Given the description of an element on the screen output the (x, y) to click on. 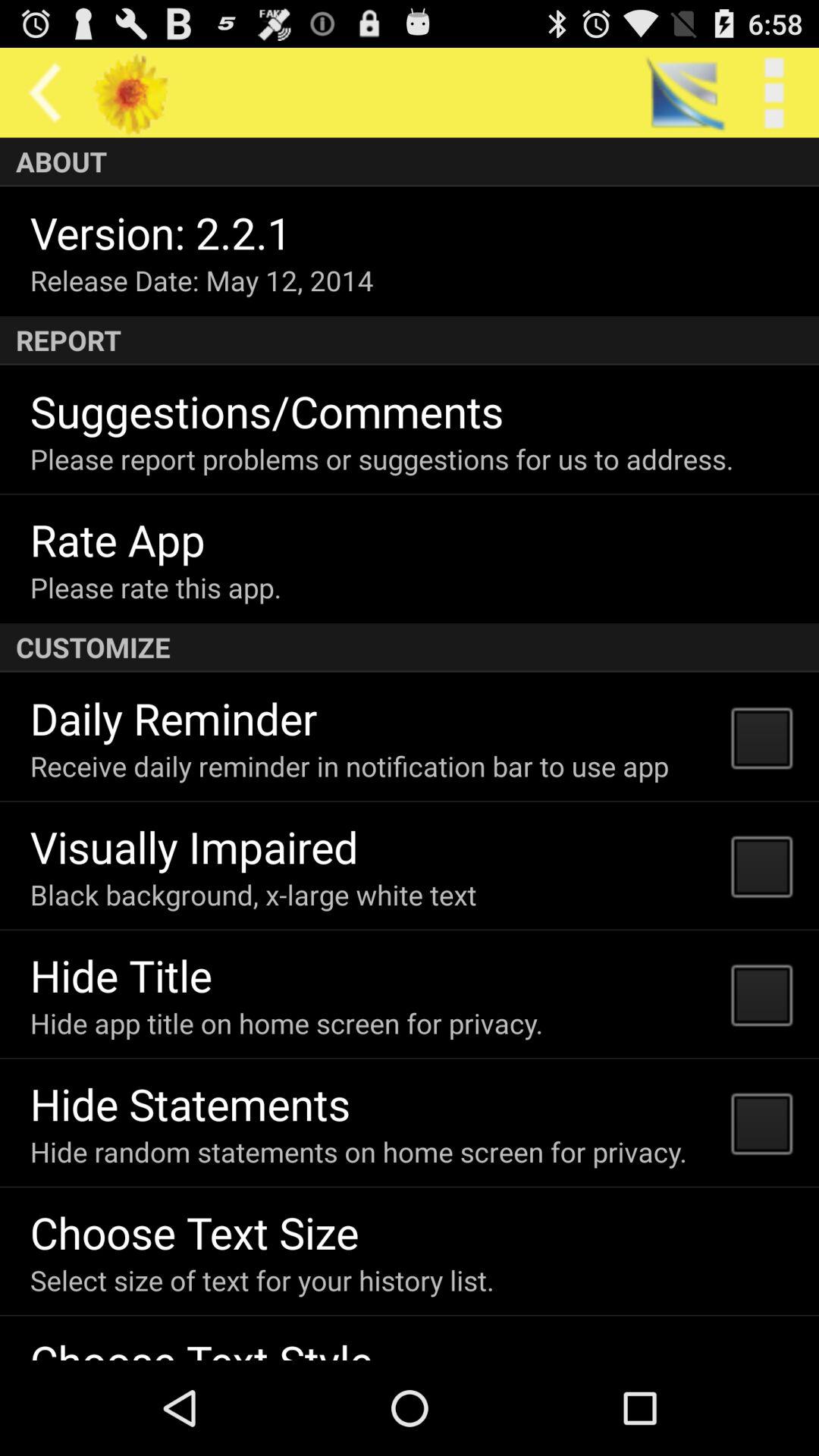
choose the app above the please report problems (266, 410)
